Given the description of an element on the screen output the (x, y) to click on. 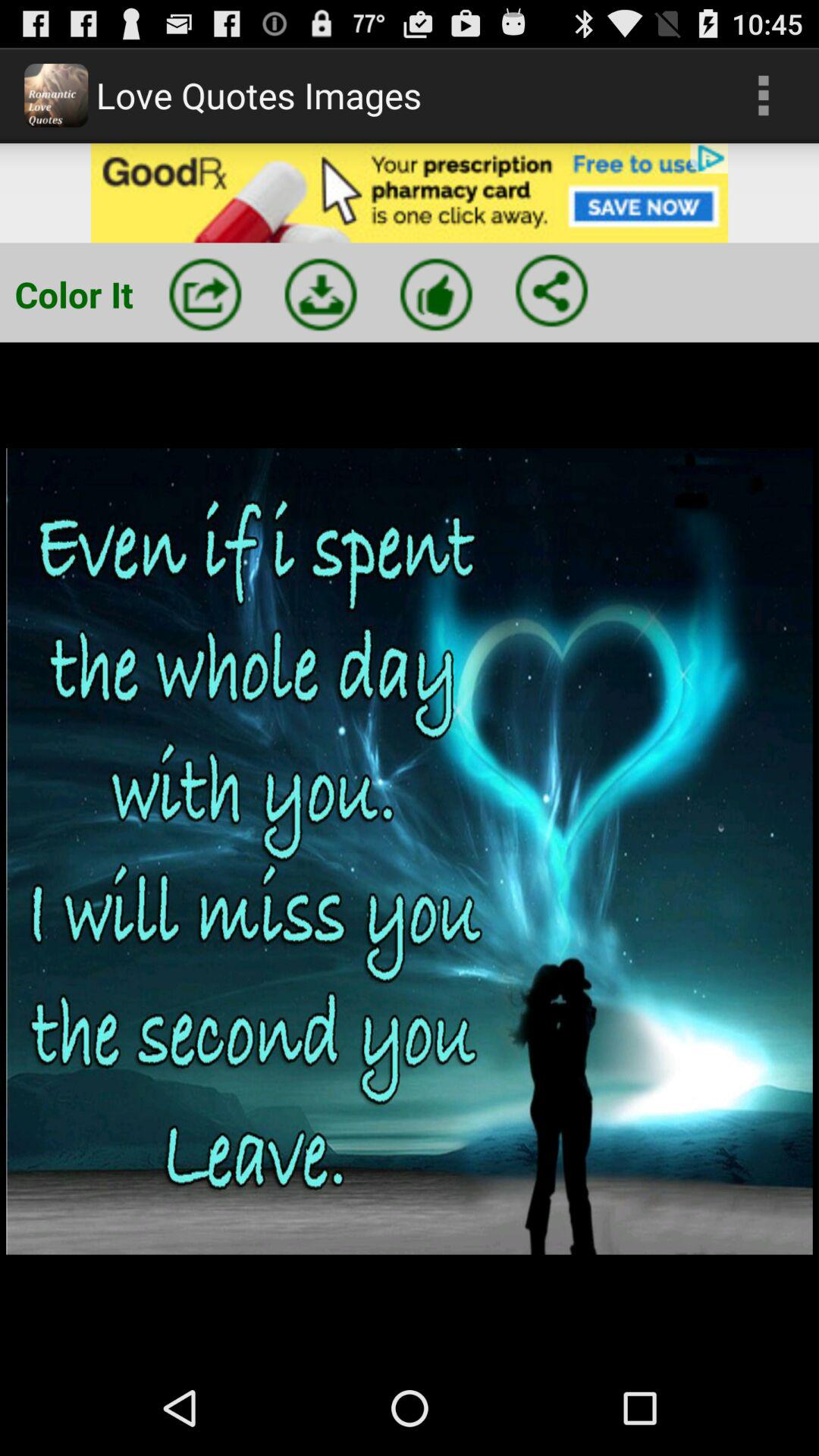
indicate like (436, 294)
